Given the description of an element on the screen output the (x, y) to click on. 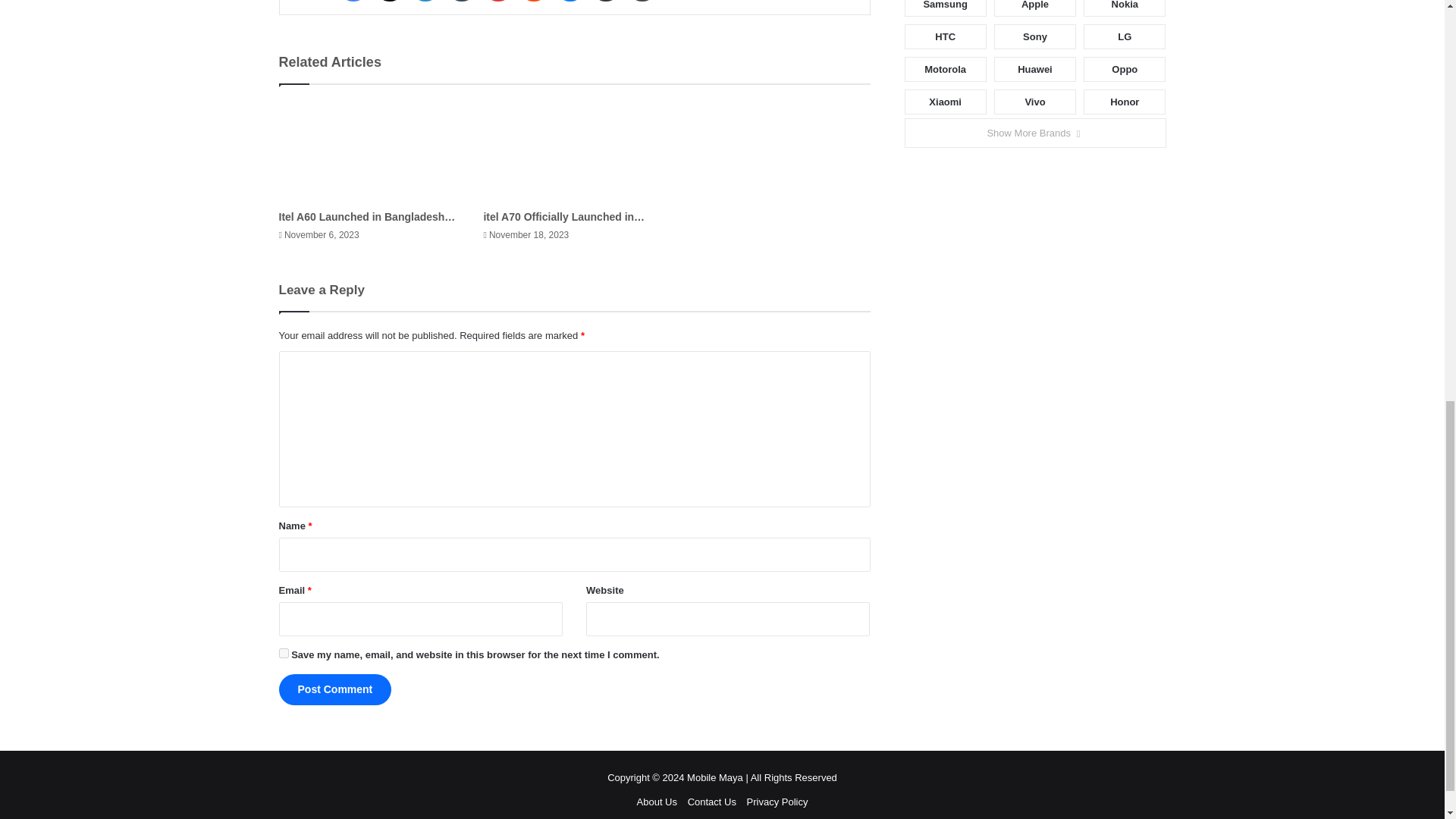
Post Comment (335, 689)
yes (283, 653)
Facebook (352, 0)
